Given the description of an element on the screen output the (x, y) to click on. 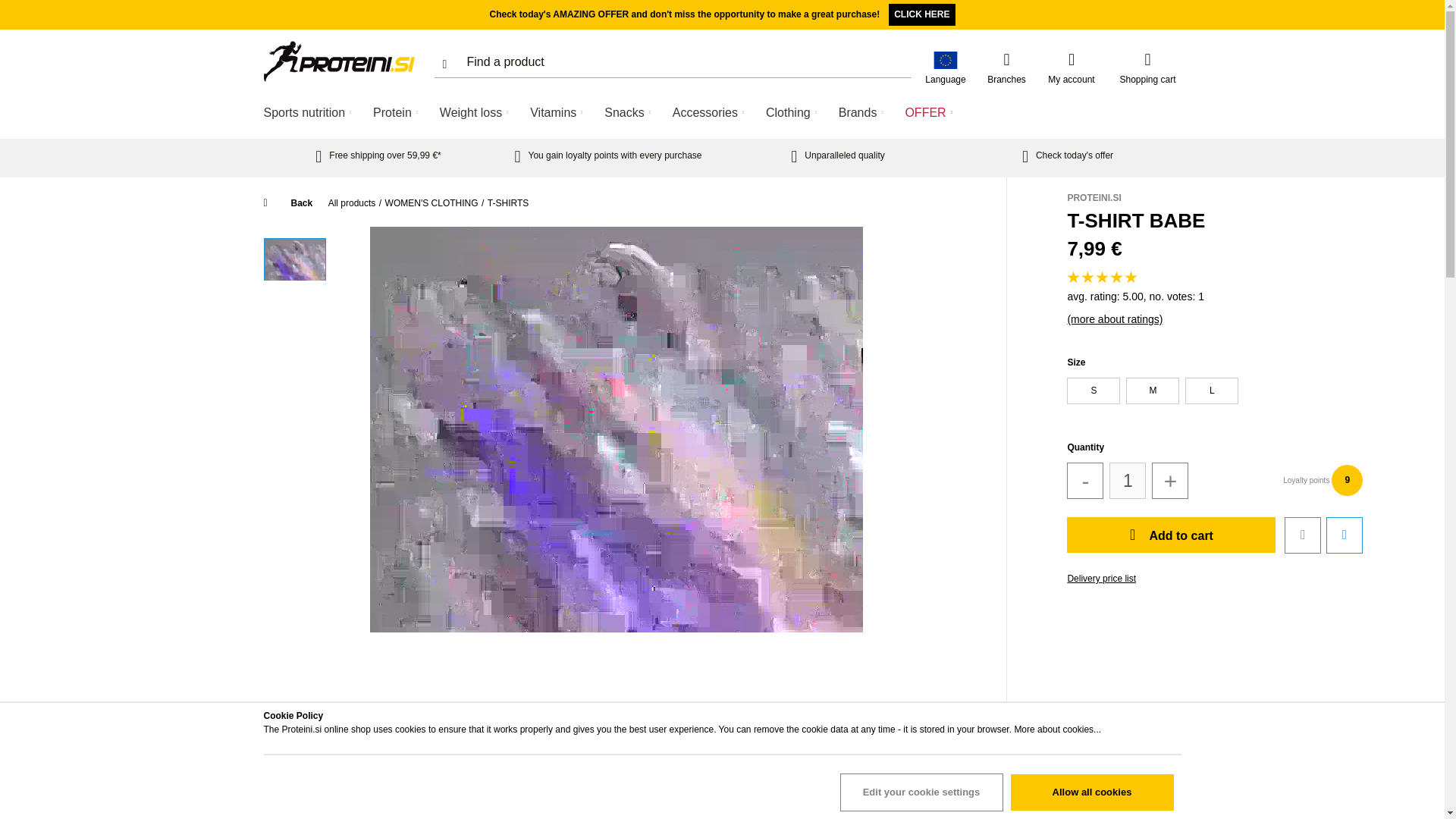
OFFER (931, 111)
Check today's offer (1067, 154)
All products (352, 203)
CLICK HERE (921, 14)
Snacks (630, 111)
WOMEN'S CLOTHING (432, 203)
T-SHIRTS (507, 203)
Protein (397, 111)
You gain loyalty points with every purchase (607, 154)
Accessories (710, 111)
